Given the description of an element on the screen output the (x, y) to click on. 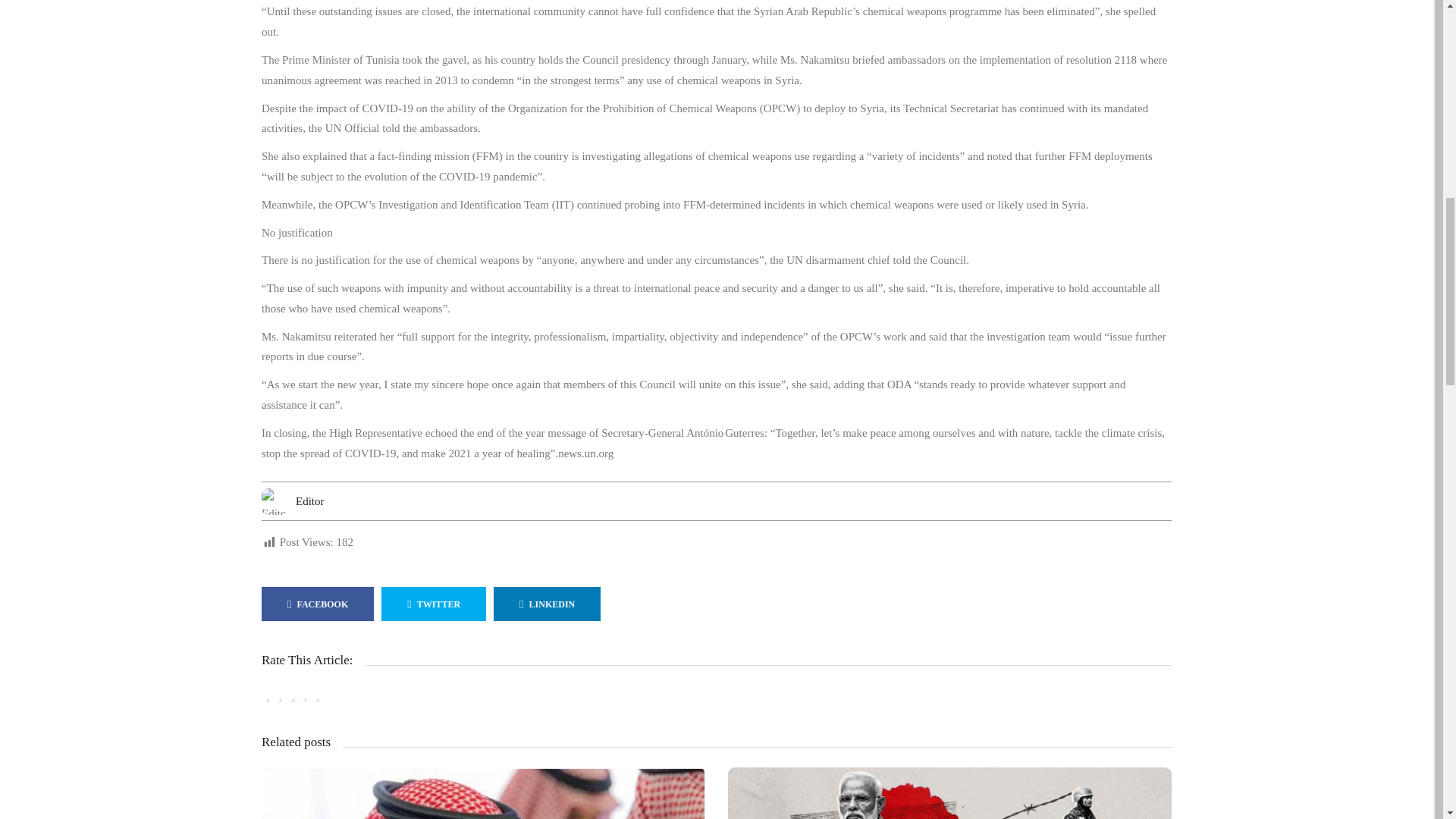
Editor (309, 500)
